Given the description of an element on the screen output the (x, y) to click on. 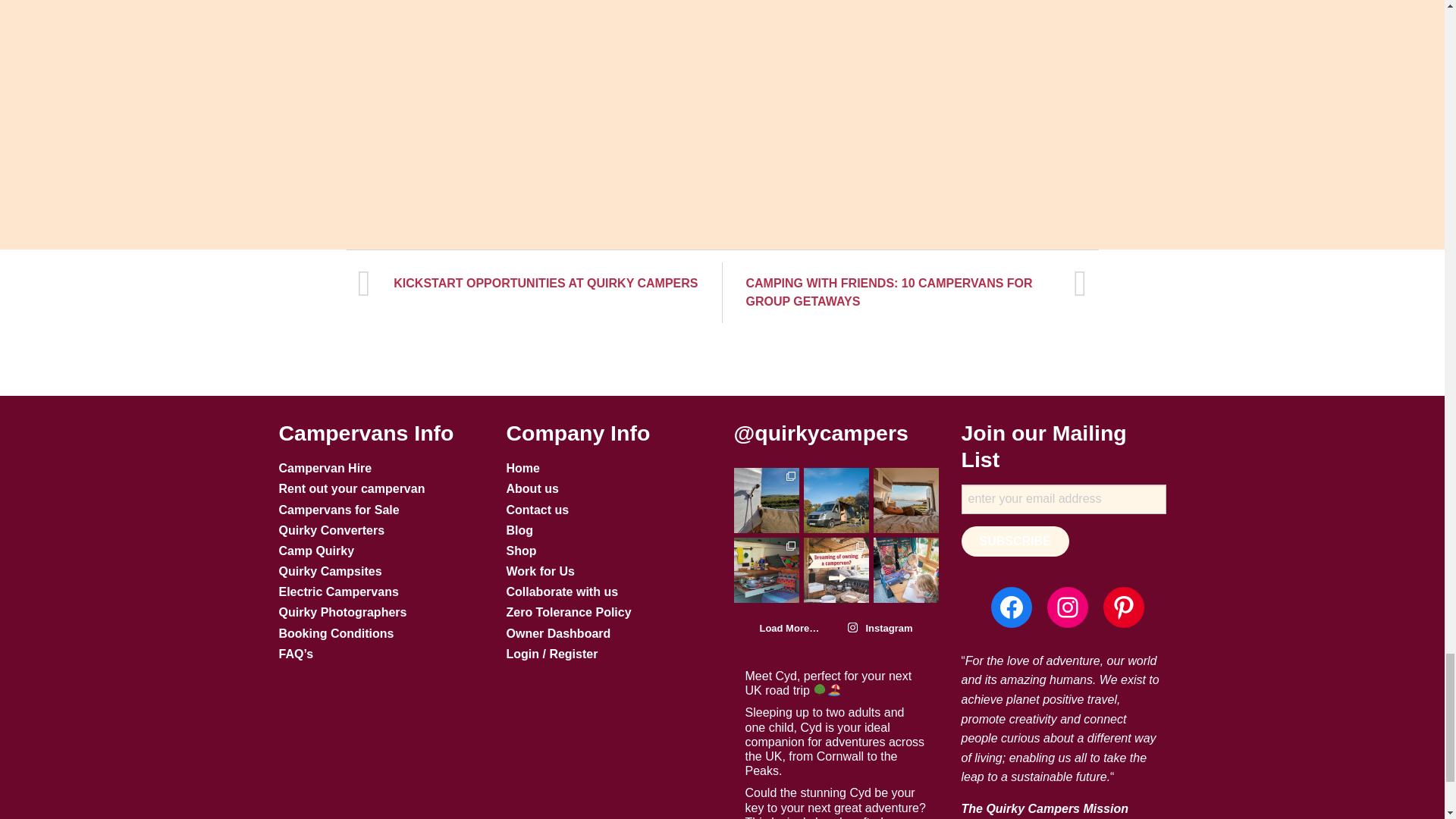
Subscribe (1014, 541)
